Given the description of an element on the screen output the (x, y) to click on. 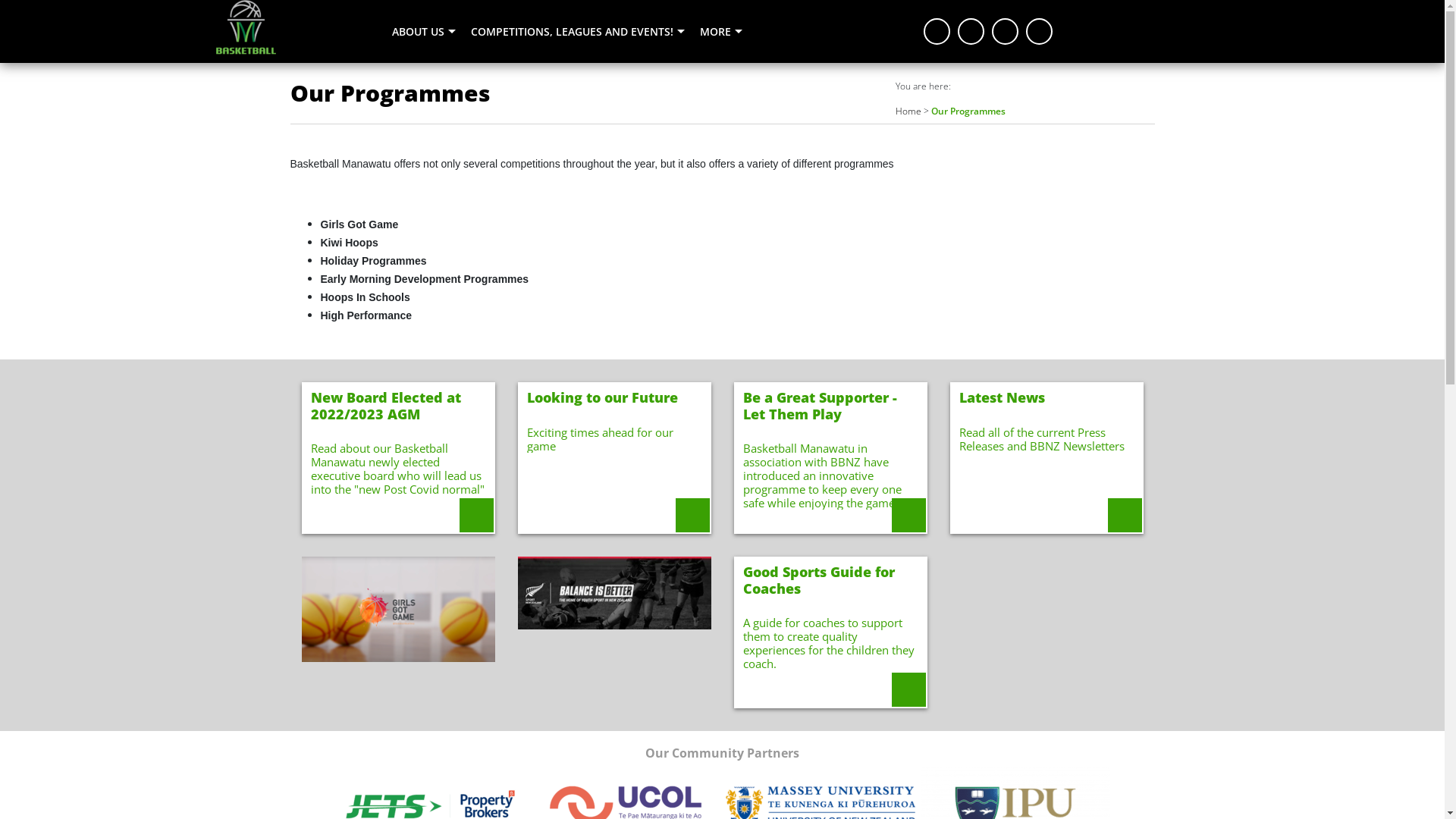
MORE Element type: text (720, 31)
Home Element type: text (907, 110)
ABOUT US Element type: text (423, 31)
COMPETITIONS, LEAGUES AND EVENTS! Element type: text (577, 31)
